Given the description of an element on the screen output the (x, y) to click on. 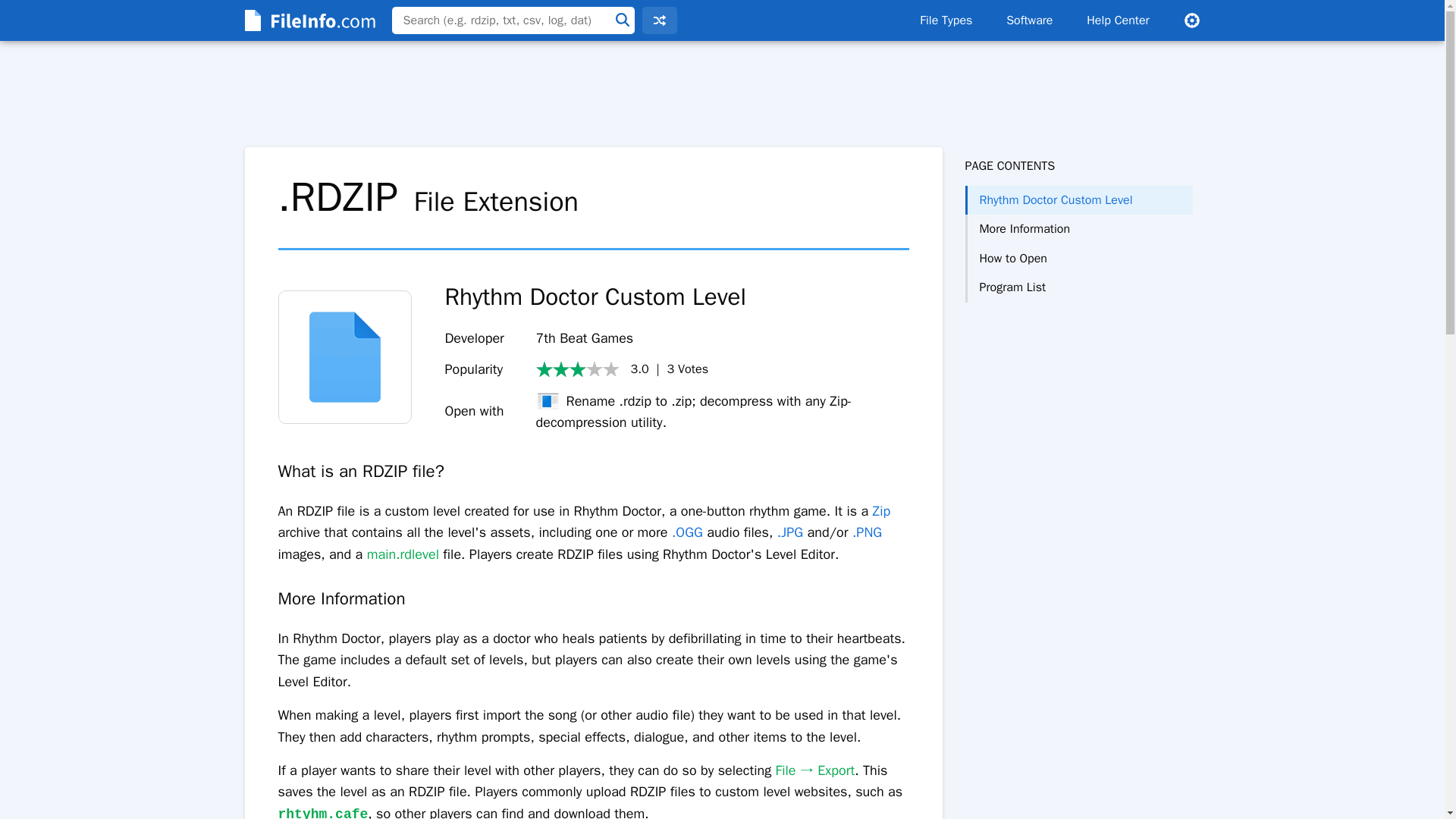
.OGG (687, 532)
Help Center (1117, 20)
.JPG (790, 532)
Software (1029, 20)
Settings (1190, 20)
Random (659, 20)
.PNG (866, 532)
Zip (881, 510)
FileInfo (307, 20)
Rhythm Doctor Custom Level (1077, 199)
